Given the description of an element on the screen output the (x, y) to click on. 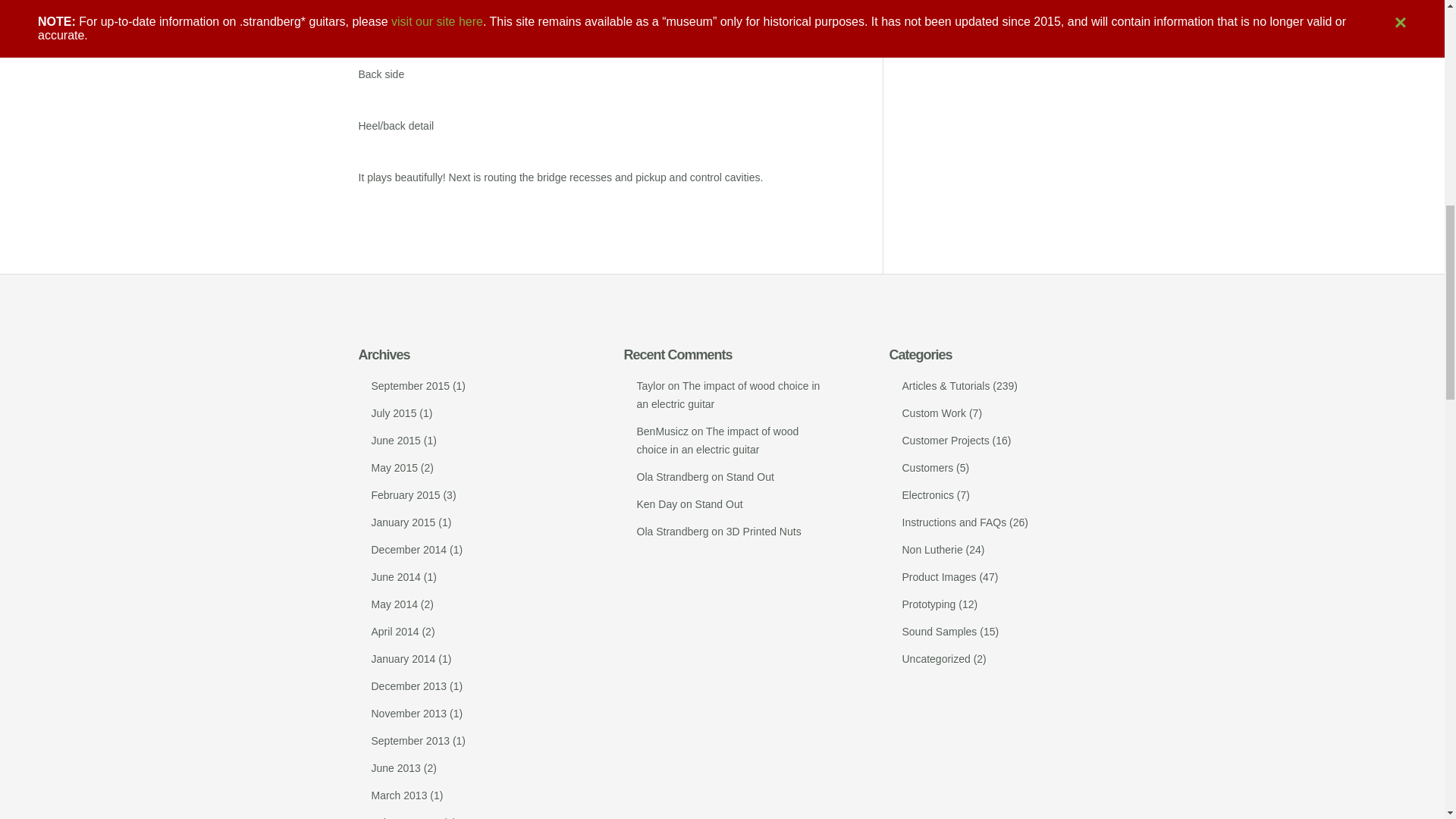
January 2015 (403, 522)
May 2015 (394, 467)
September 2013 (410, 740)
June 2015 (395, 440)
September 2015 (410, 386)
February 2013 (406, 817)
December 2013 (408, 686)
April 2014 (395, 631)
February 2015 (406, 494)
December 2014 (408, 549)
January 2014 (403, 658)
Images and testimonials from customers (946, 440)
November 2013 (408, 713)
March 2013 (399, 795)
